Given the description of an element on the screen output the (x, y) to click on. 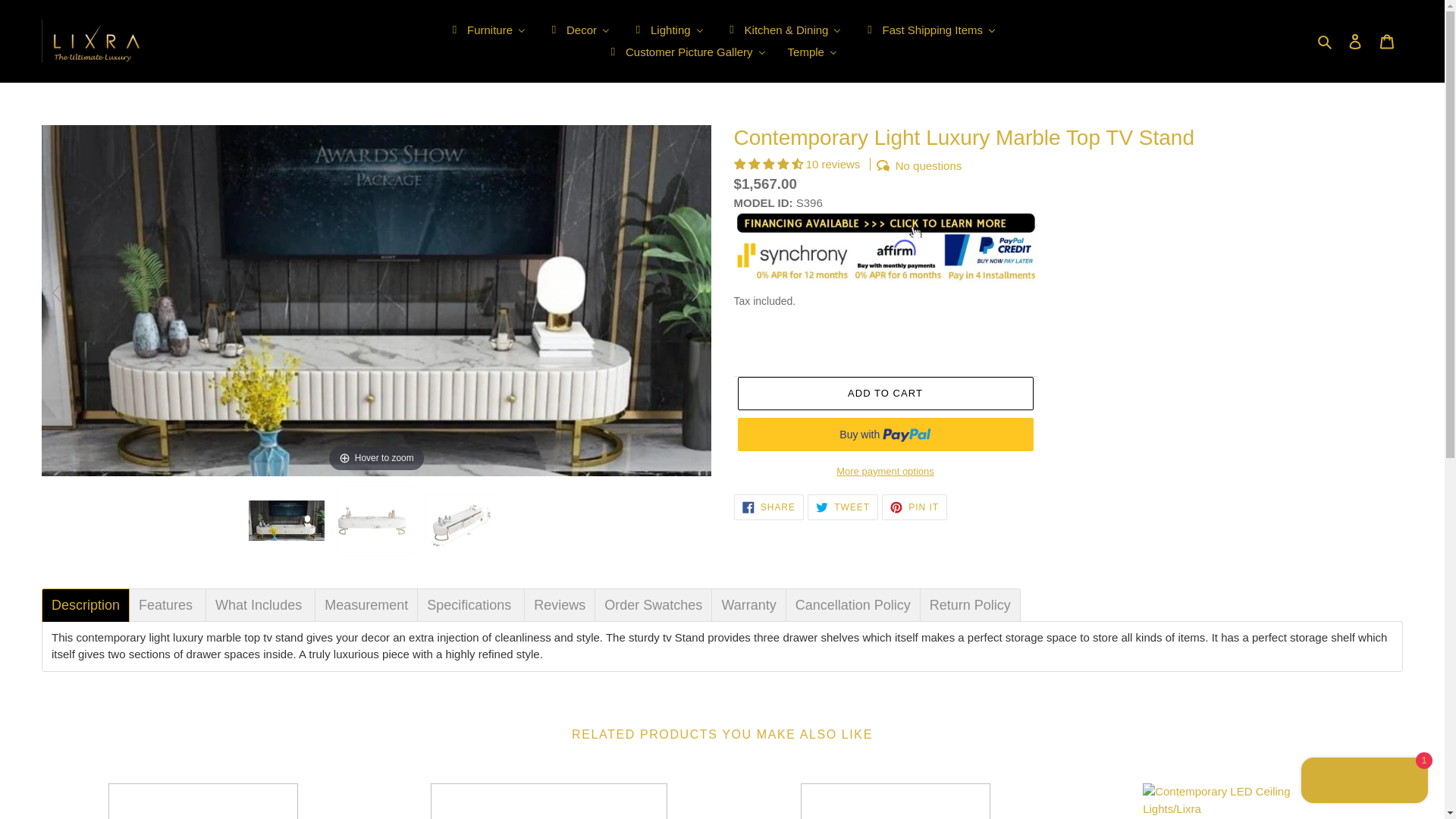
Contemporary Light Luxury Marble Top TV Stand - Lixra (287, 520)
Furniture (487, 29)
Contemporary Light Luxury Marble Top TV Stand - Lixra (464, 521)
Contemporary Light Luxury Marble Top TV Stand - Lixra (375, 520)
